Given the description of an element on the screen output the (x, y) to click on. 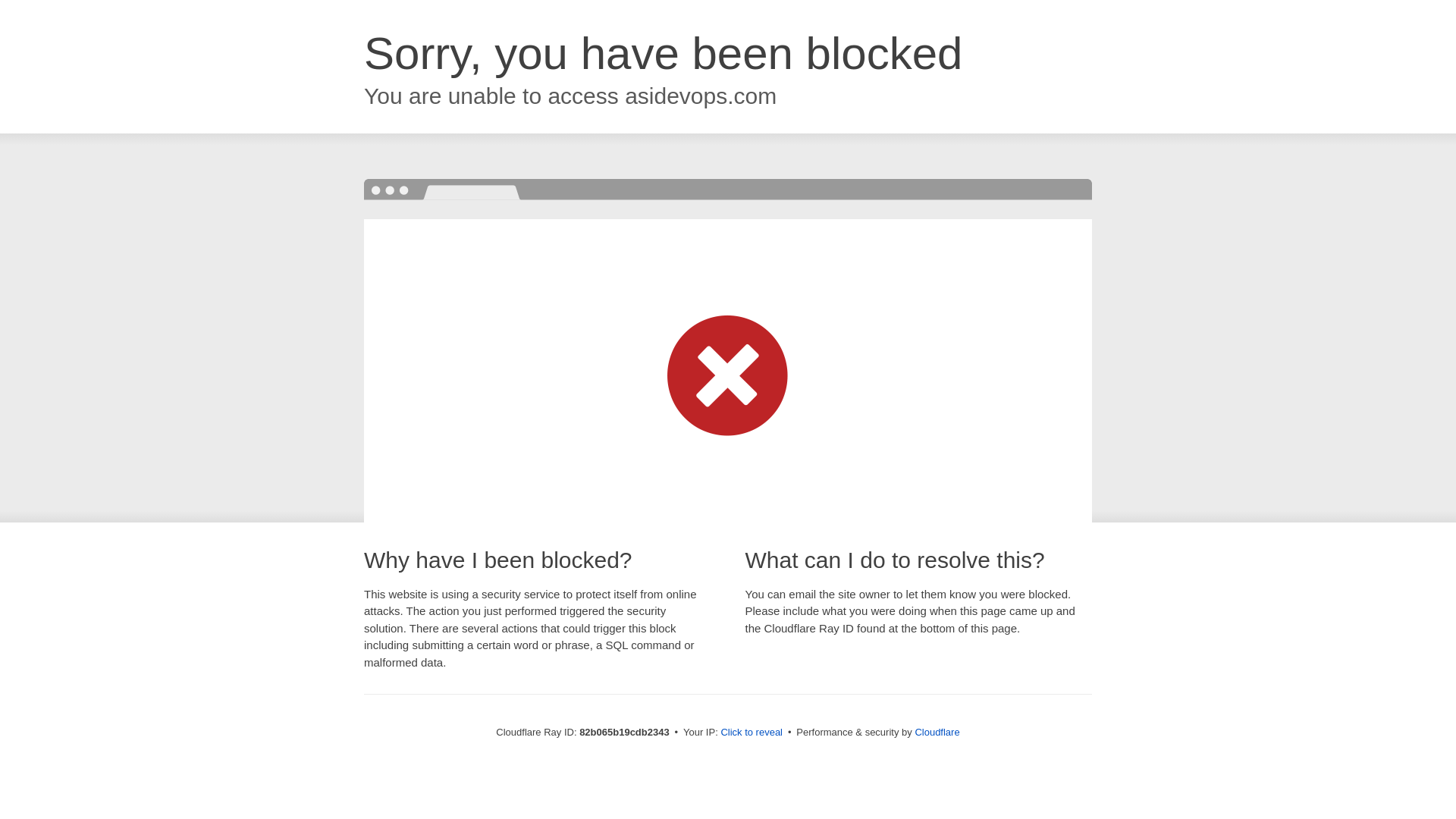
Cloudflare Element type: text (936, 731)
Click to reveal Element type: text (751, 732)
